Given the description of an element on the screen output the (x, y) to click on. 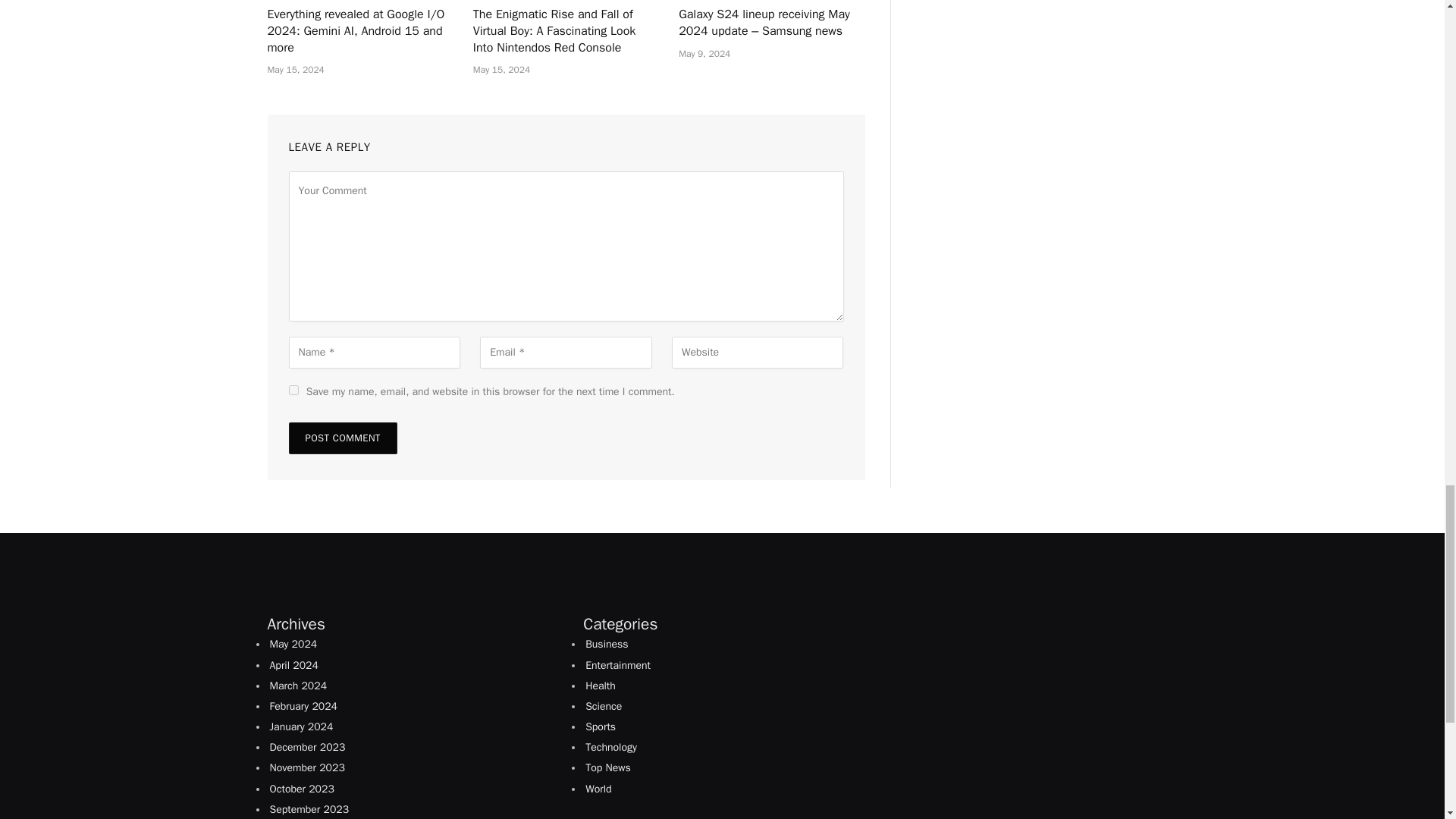
yes (293, 389)
Post Comment (342, 438)
